Given the description of an element on the screen output the (x, y) to click on. 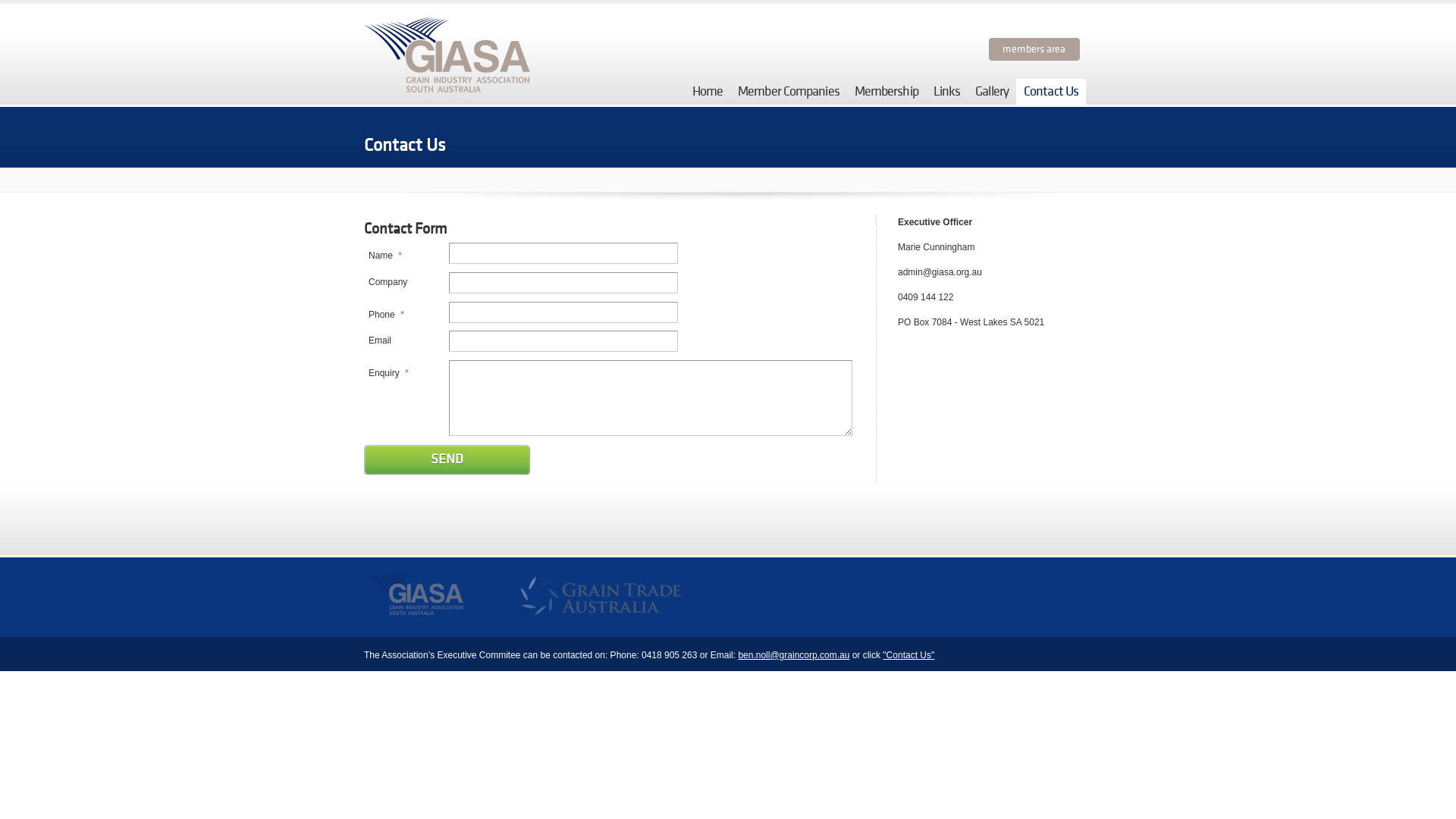
Gallery Element type: text (991, 91)
Members Area Element type: text (1033, 48)
Contact Us Element type: text (1050, 91)
Grain Trade Australia Element type: text (667, 597)
Home Element type: text (707, 91)
ben.noll@graincorp.com.au Element type: text (793, 654)
GIASA Element type: text (423, 597)
Links Element type: text (946, 91)
"Contact Us" Element type: text (908, 654)
Member Companies Element type: text (788, 91)
Membership Element type: text (886, 91)
SEND Element type: text (447, 459)
